Given the description of an element on the screen output the (x, y) to click on. 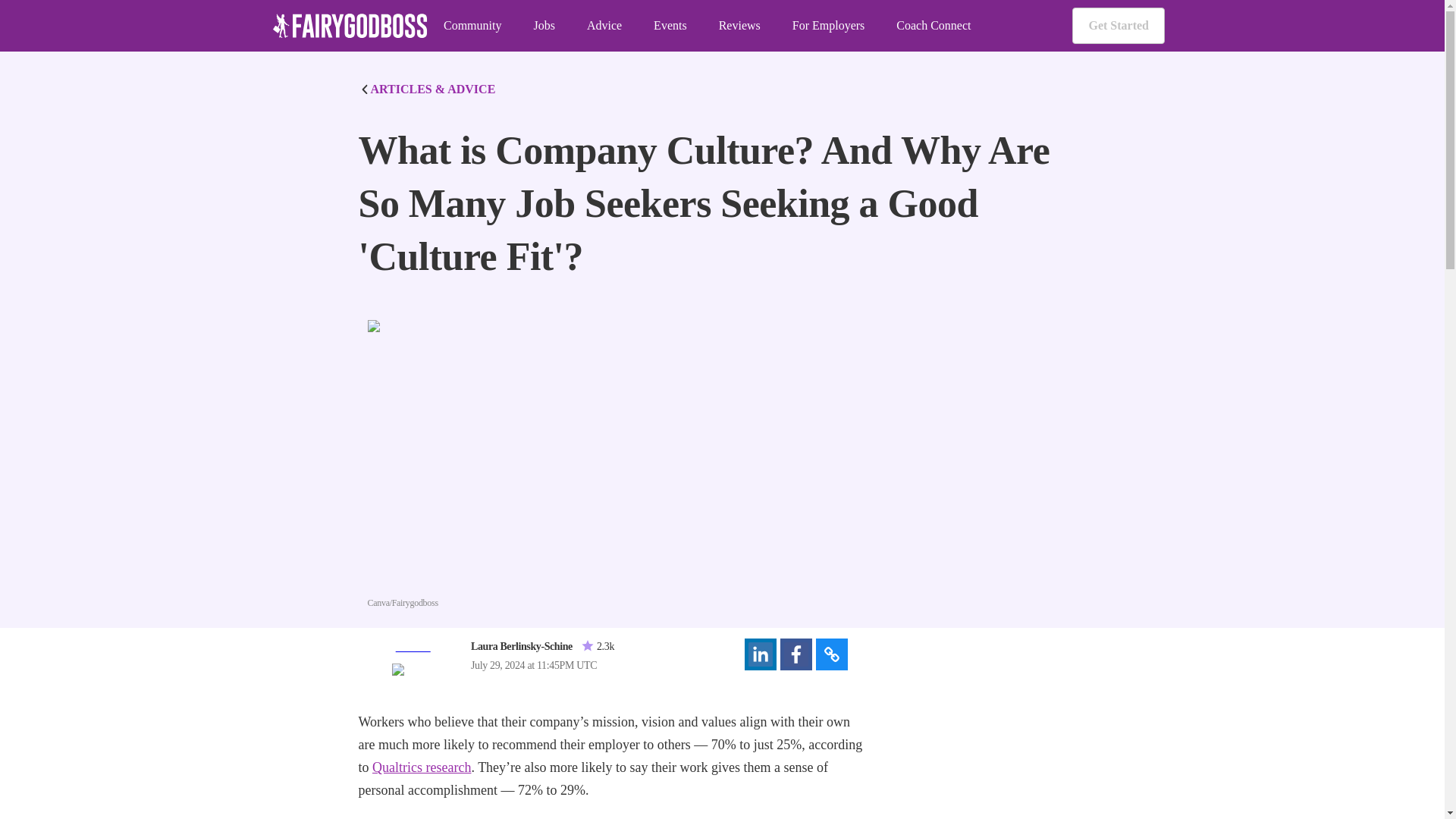
Jobs (543, 25)
Jobs (543, 25)
Community (472, 25)
Events (670, 25)
Qualtrics research (421, 767)
For Employers (828, 25)
Coach Connect (933, 25)
Events (670, 25)
For Employers (828, 25)
Advice (603, 25)
Community (472, 25)
Advice (603, 25)
Get Started (1117, 25)
Reviews (739, 25)
Reviews (739, 25)
